Given the description of an element on the screen output the (x, y) to click on. 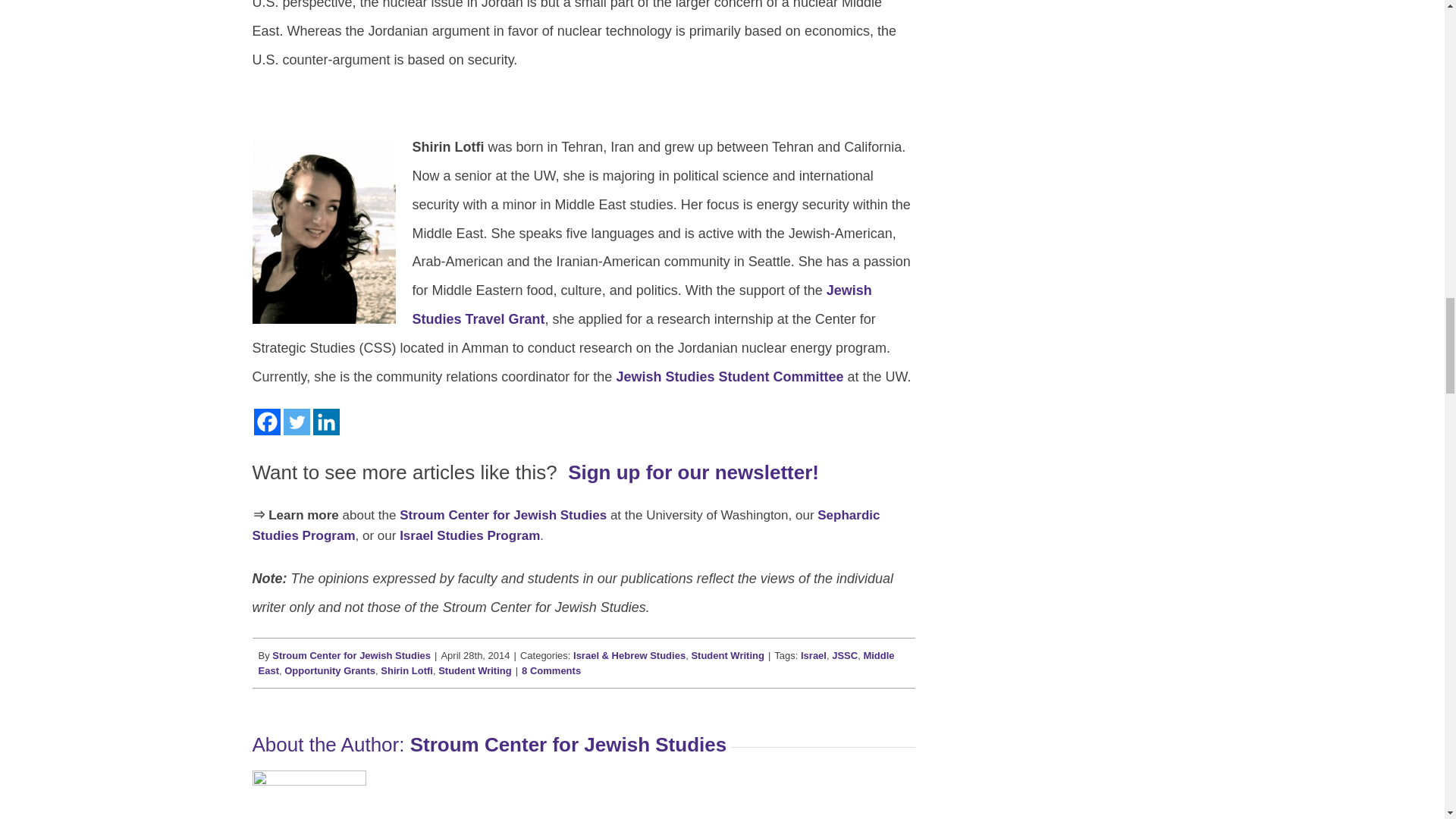
Facebook (266, 421)
Posts by Stroum Center for Jewish Studies (568, 744)
Posts by Stroum Center for Jewish Studies (351, 655)
Twitter (296, 421)
Linkedin (326, 421)
